Given the description of an element on the screen output the (x, y) to click on. 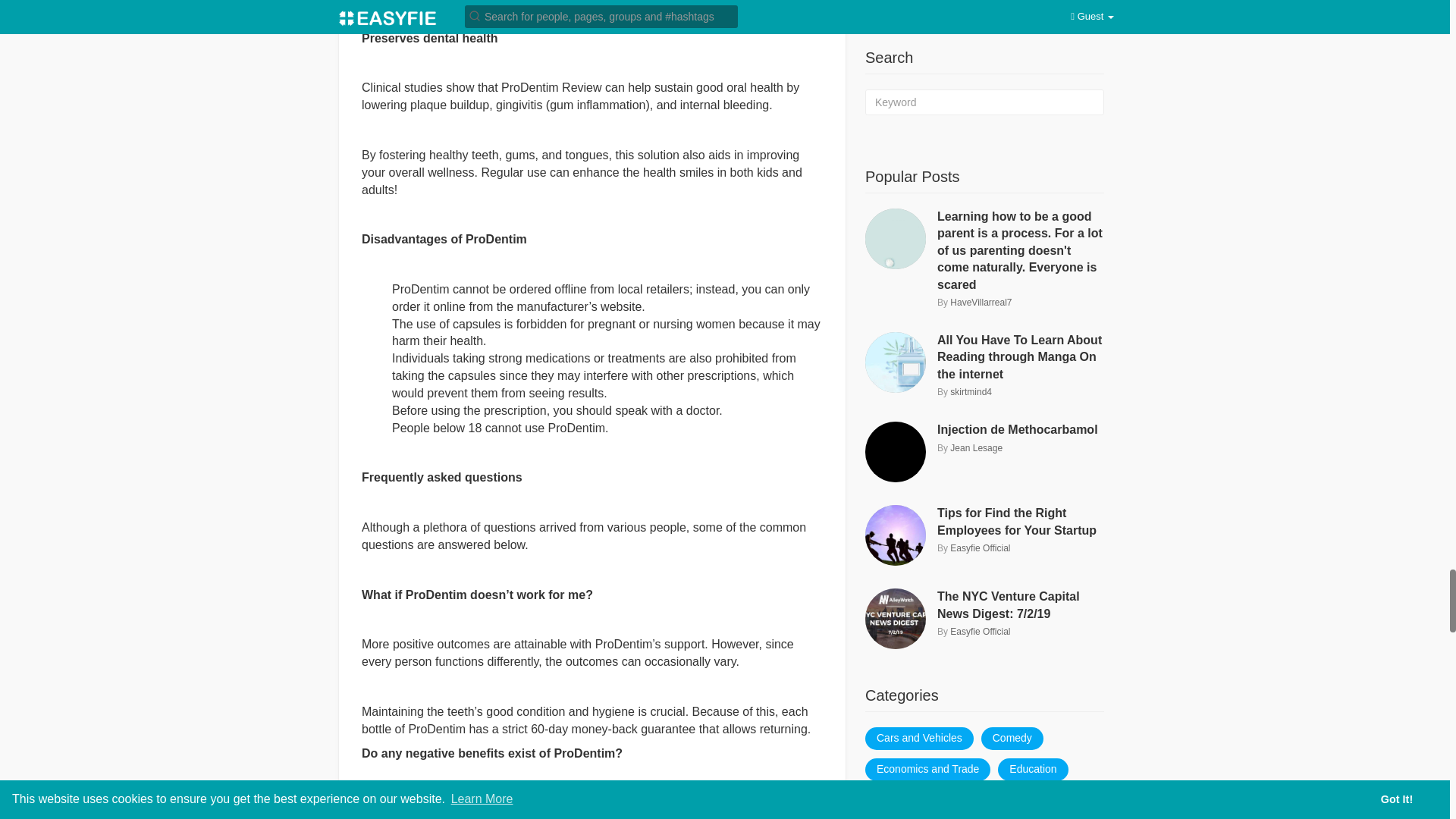
ProDentim Reviews (534, 802)
